Given the description of an element on the screen output the (x, y) to click on. 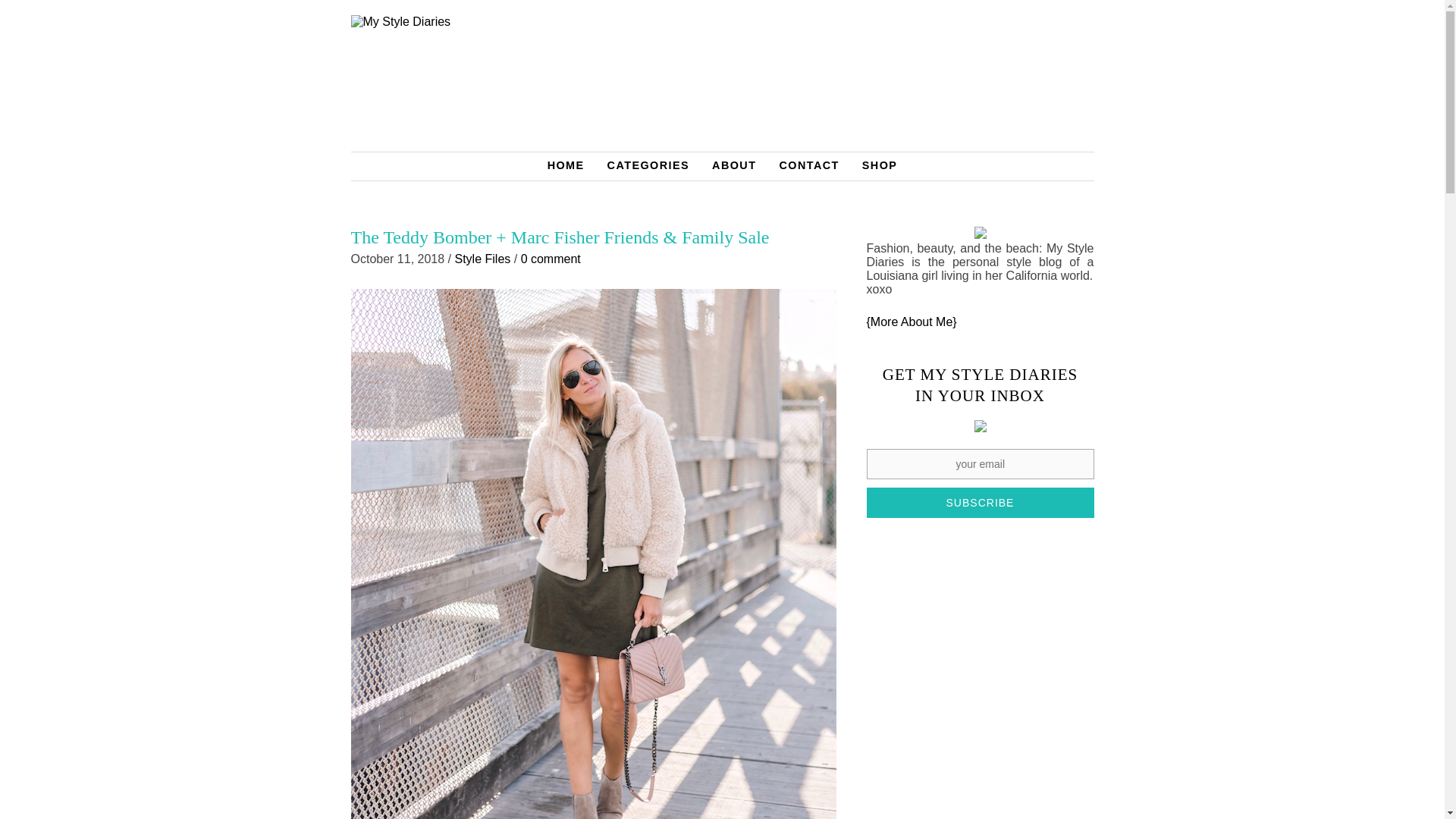
My Style Diaries (721, 83)
CATEGORIES (647, 165)
CONTACT (808, 165)
0 comment (550, 258)
Style Files (482, 258)
SHOP (879, 165)
HOME (565, 165)
ABOUT (733, 165)
